Given the description of an element on the screen output the (x, y) to click on. 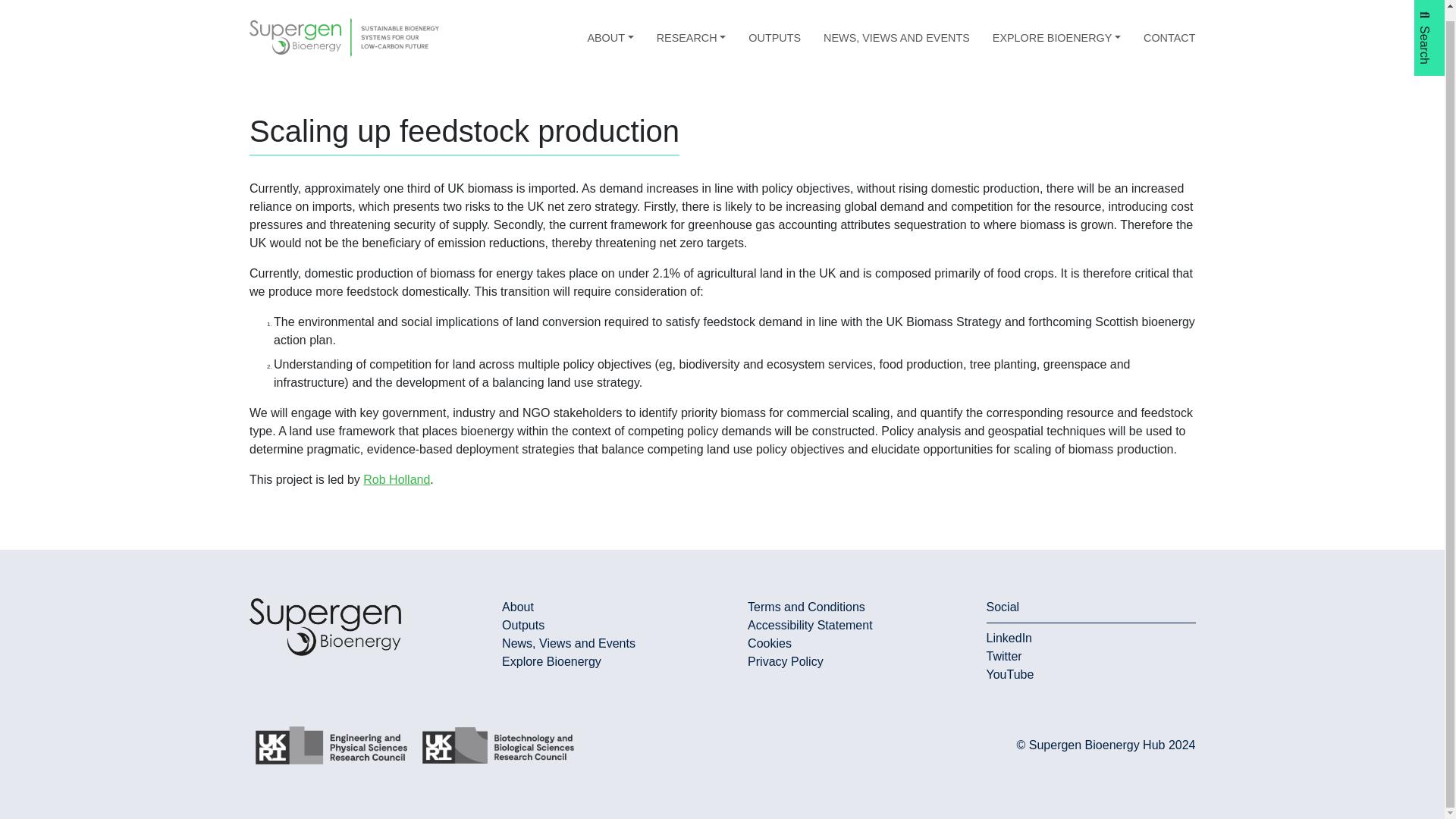
OUTPUTS (774, 27)
EXPLORE BIOENERGY (1056, 27)
NEWS, VIEWS AND EVENTS (896, 27)
ABOUT (609, 27)
CONTACT (1168, 27)
RESEARCH (691, 27)
